Given the description of an element on the screen output the (x, y) to click on. 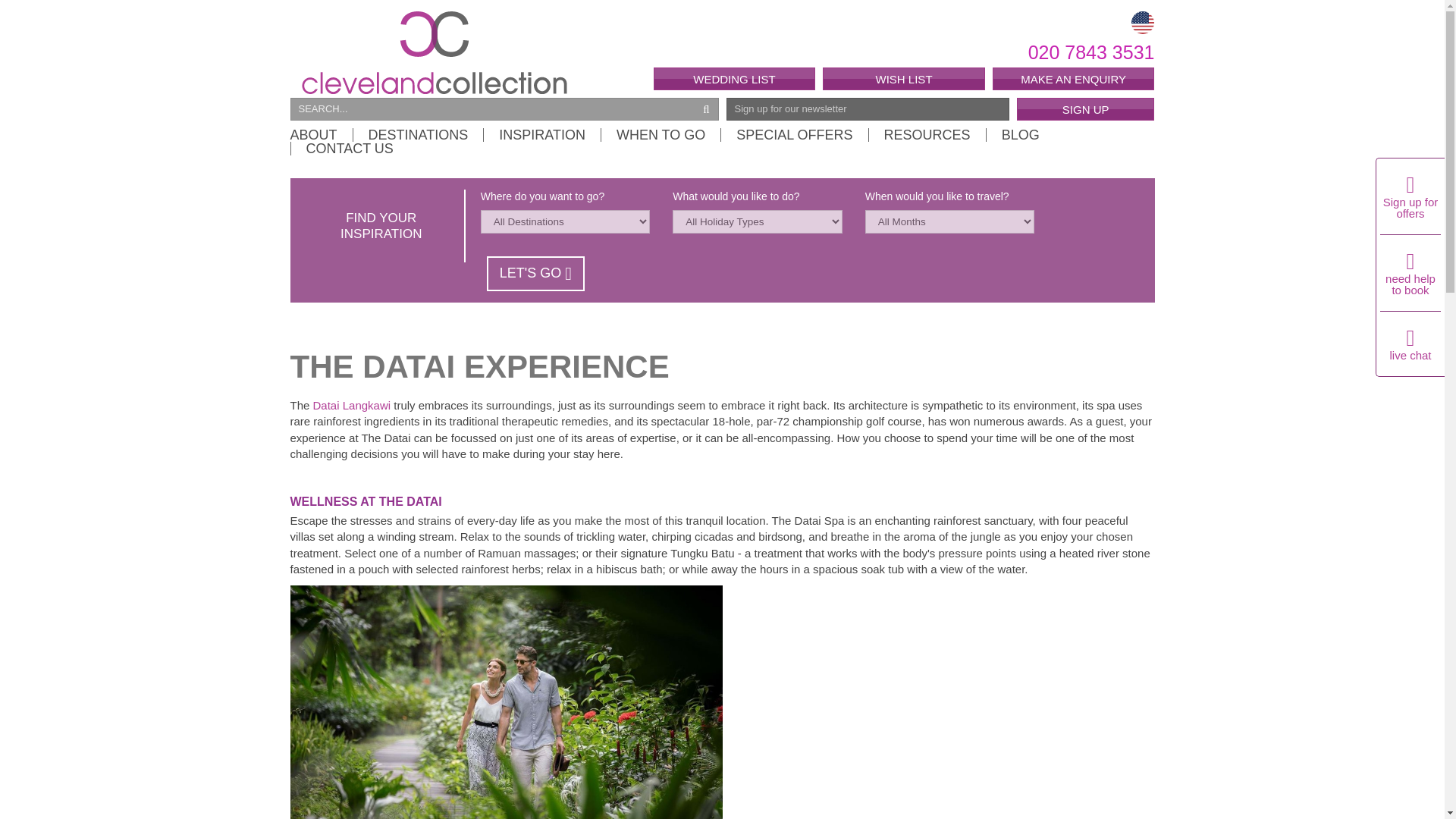
RESOURCES (926, 134)
SPECIAL OFFERS (793, 134)
WISH LIST (903, 78)
DESTINATIONS (417, 134)
BLOG (1019, 134)
SIGN UP (1085, 108)
WEDDING LIST (734, 78)
CONTACT US (341, 148)
Opens a widget where you can chat to one of our agents (1311, 184)
WHEN TO GO (659, 134)
MAKE AN ENQUIRY (1073, 78)
INSPIRATION (541, 134)
ABOUT (320, 134)
